Given the description of an element on the screen output the (x, y) to click on. 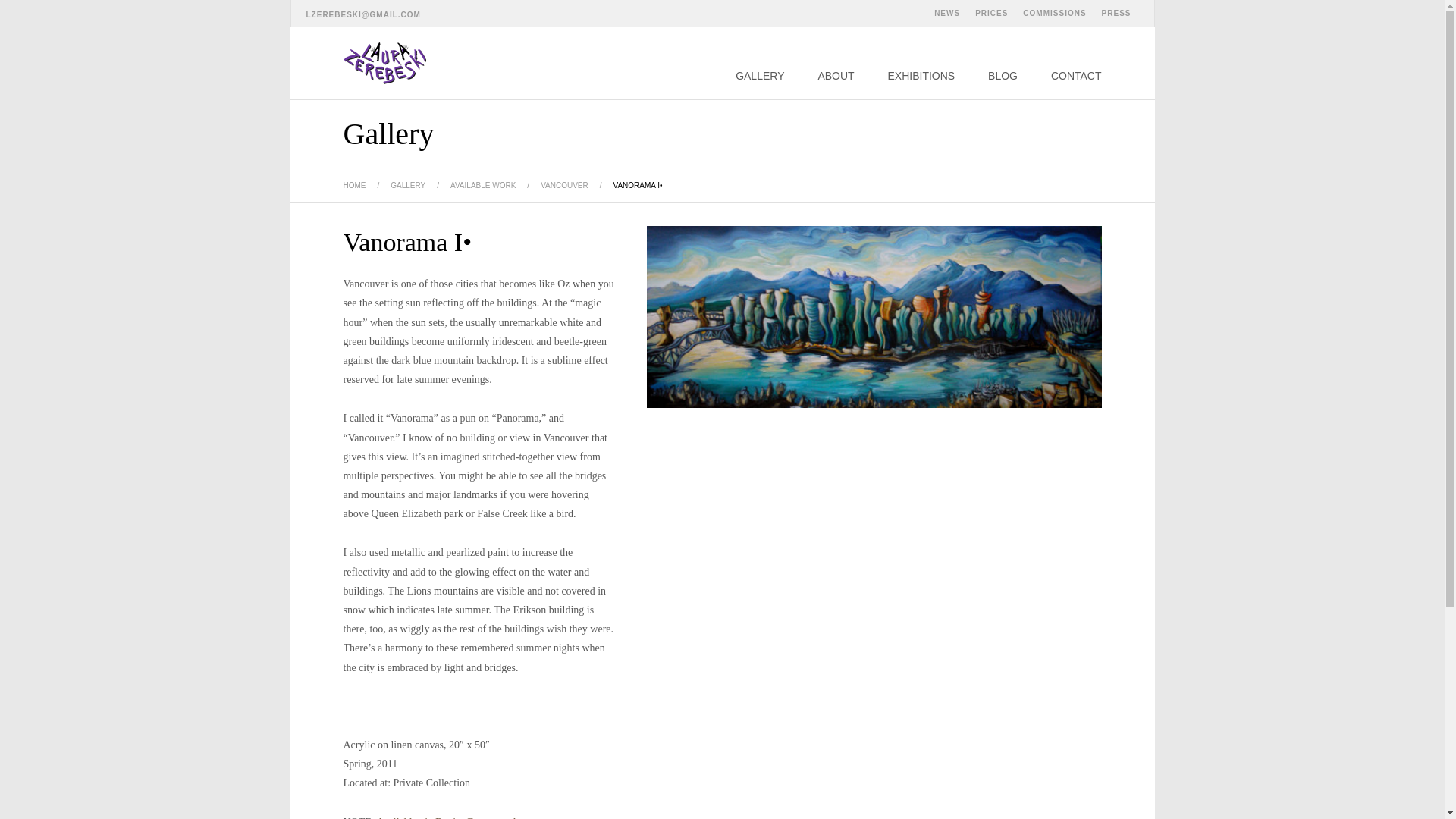
VANCOUVER (564, 184)
AVAILABLE WORK (482, 184)
PRICES (991, 13)
CONTACT (1076, 75)
GALLERY (407, 184)
GALLERY (759, 75)
BLOG (1002, 75)
PRESS (1116, 13)
COMMISSIONS (1054, 13)
NEWS (946, 13)
